Given the description of an element on the screen output the (x, y) to click on. 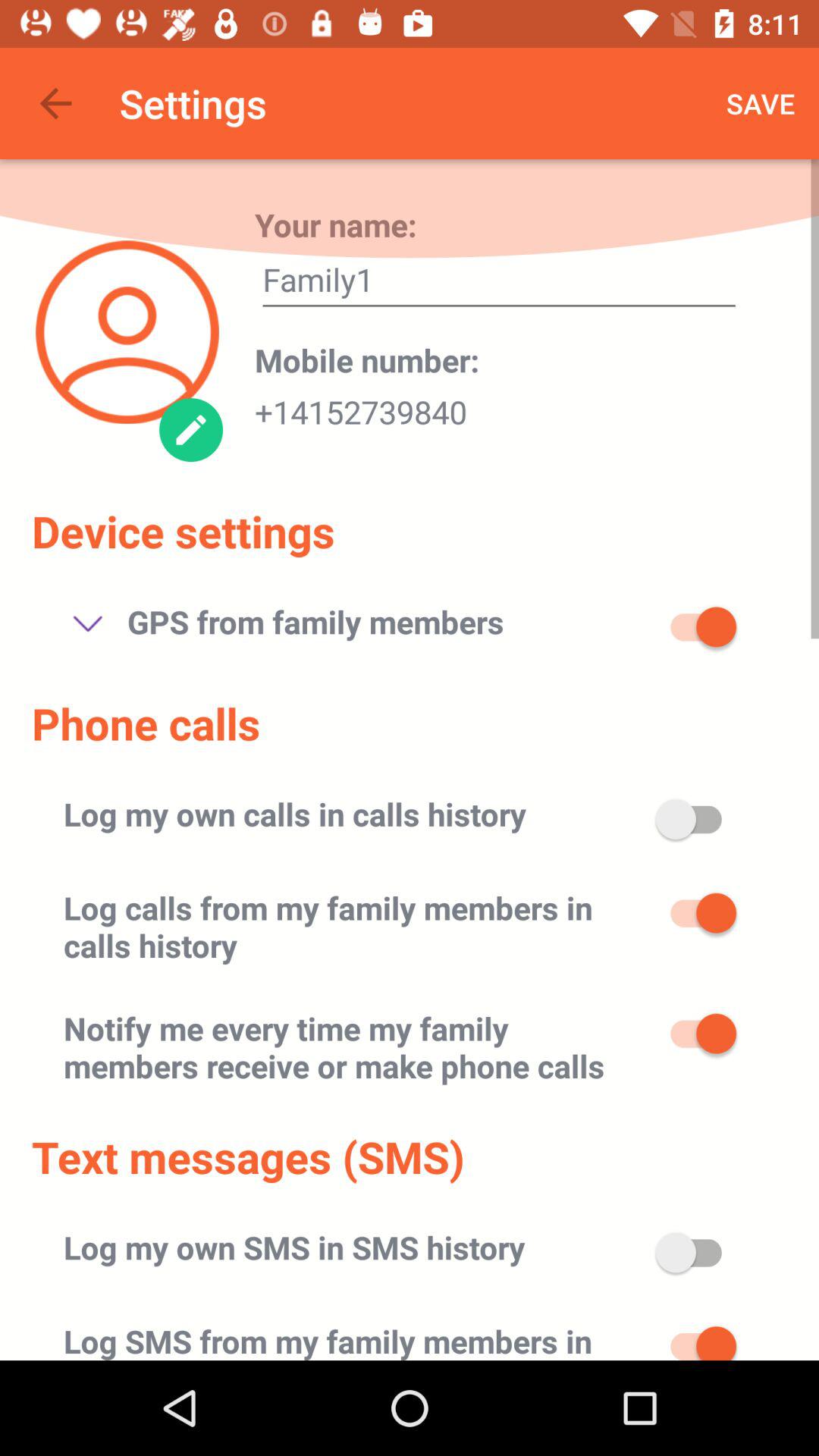
launch the icon to the left of settings (55, 103)
